Given the description of an element on the screen output the (x, y) to click on. 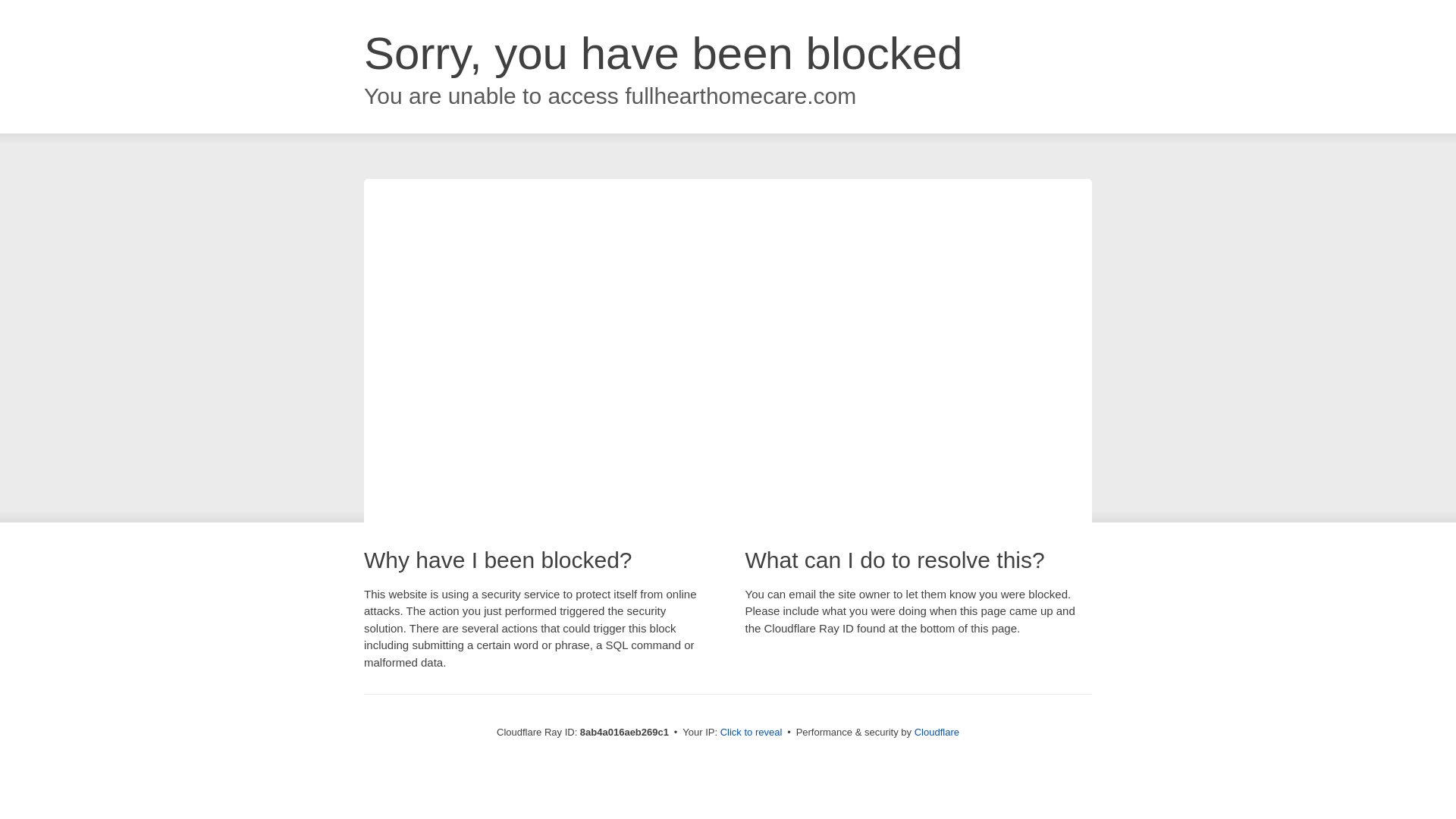
Click to reveal (751, 732)
Cloudflare (936, 731)
